Given the description of an element on the screen output the (x, y) to click on. 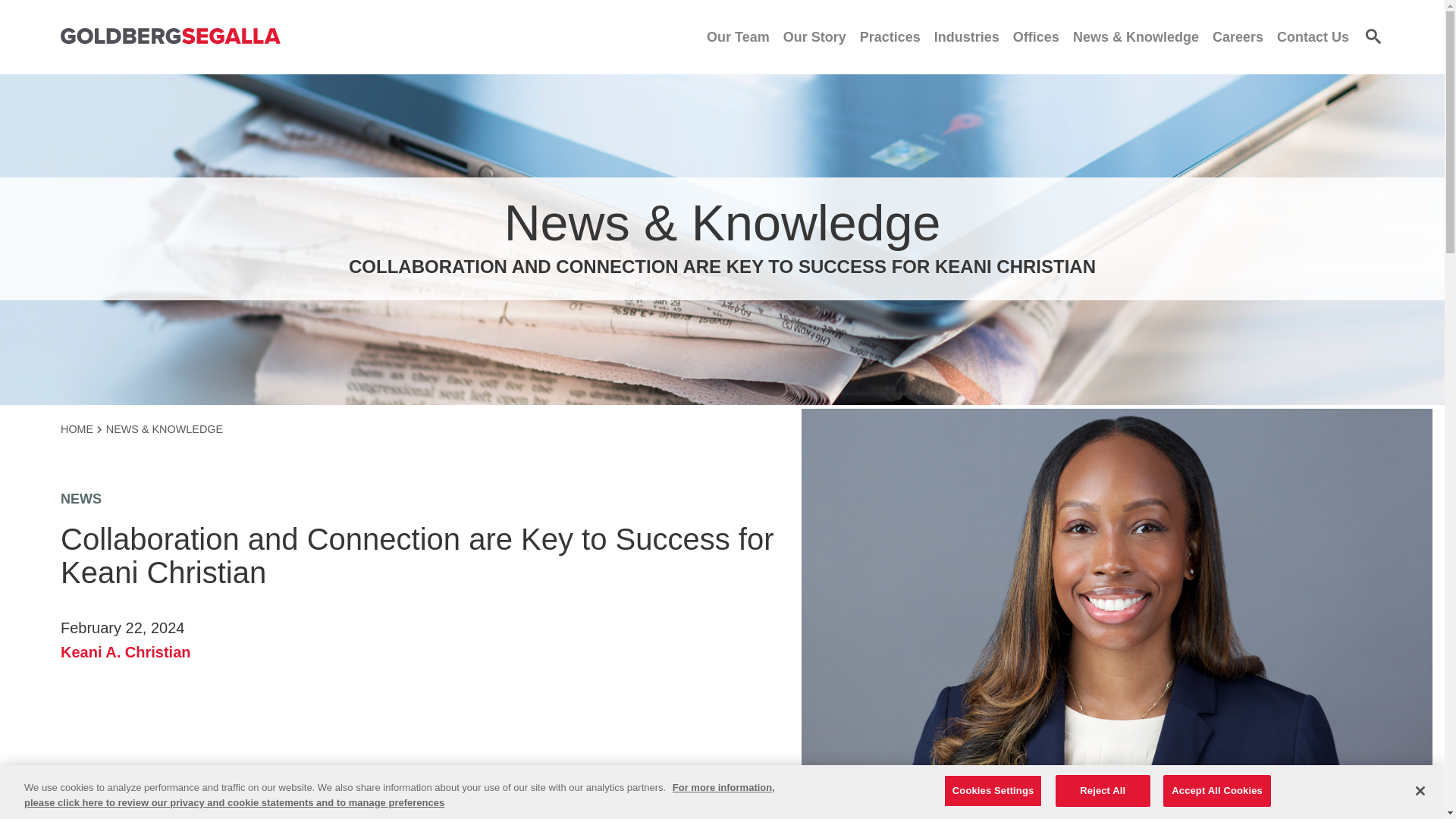
Careers (1237, 37)
Our Story (814, 37)
Offices (1036, 37)
HOME (81, 428)
Industries (966, 37)
Practices (890, 37)
Our Team (738, 37)
Keani A. Christian (125, 651)
Contact Us (1312, 37)
